Given the description of an element on the screen output the (x, y) to click on. 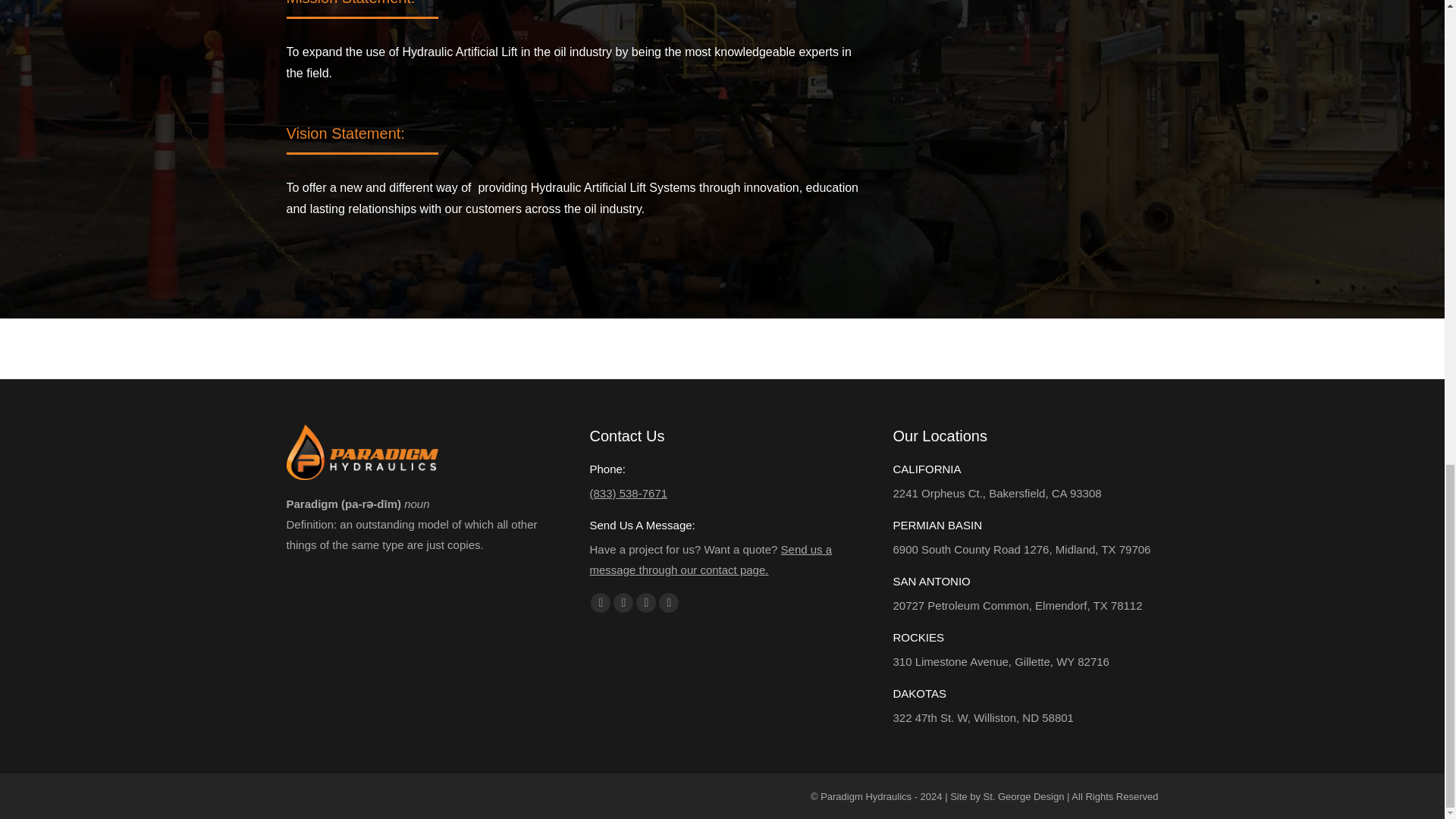
Facebook page opens in new window (600, 602)
St. George Design (1023, 795)
Instagram page opens in new window (668, 602)
YouTube page opens in new window (622, 602)
Facebook page opens in new window (600, 602)
Linkedin page opens in new window (646, 602)
Send us a message through our contact page. (710, 559)
Instagram page opens in new window (668, 602)
YouTube page opens in new window (622, 602)
Linkedin page opens in new window (646, 602)
